Given the description of an element on the screen output the (x, y) to click on. 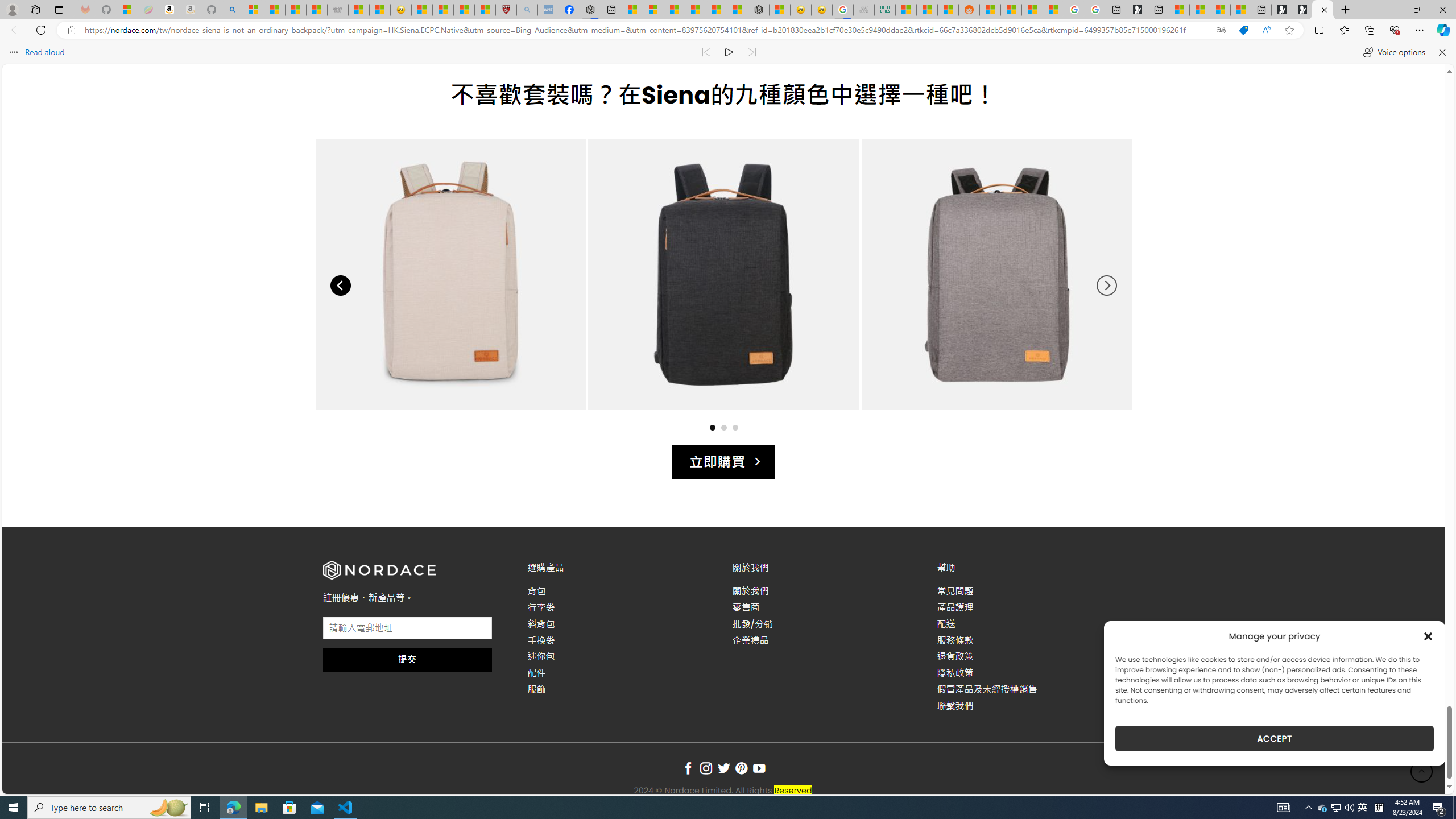
R******* | Trusted Community Engagement and Contributions (990, 9)
Show translate options (1220, 29)
Page dot 2 (723, 427)
Continue to read aloud (Ctrl+Shift+U) (729, 52)
These 3 Stocks Pay You More Than 5% to Own Them (1240, 9)
12 Popular Science Lies that Must be Corrected (485, 9)
Close read aloud (1441, 52)
